Given the description of an element on the screen output the (x, y) to click on. 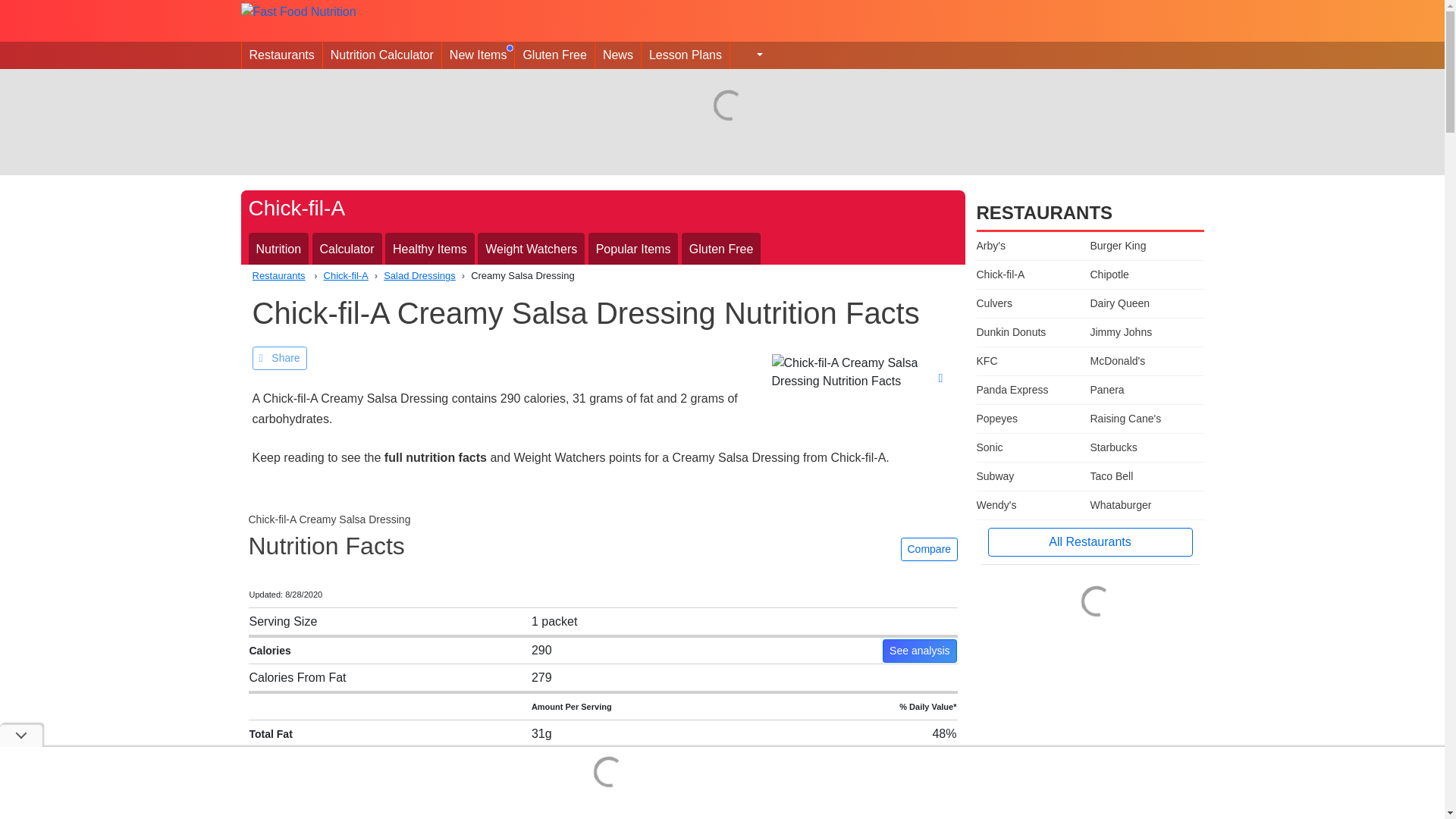
Restaurants (277, 275)
Serving Size (282, 620)
Restaurants Chick-fil-ASalad DressingsCreamy Salsa Dressing (602, 275)
Nutrition Calculator (382, 54)
Cholesterol (277, 815)
Chick-fil-A Nutrition (278, 249)
Saturated Fat (291, 761)
Weight Watchers (531, 249)
News (617, 54)
